Given the description of an element on the screen output the (x, y) to click on. 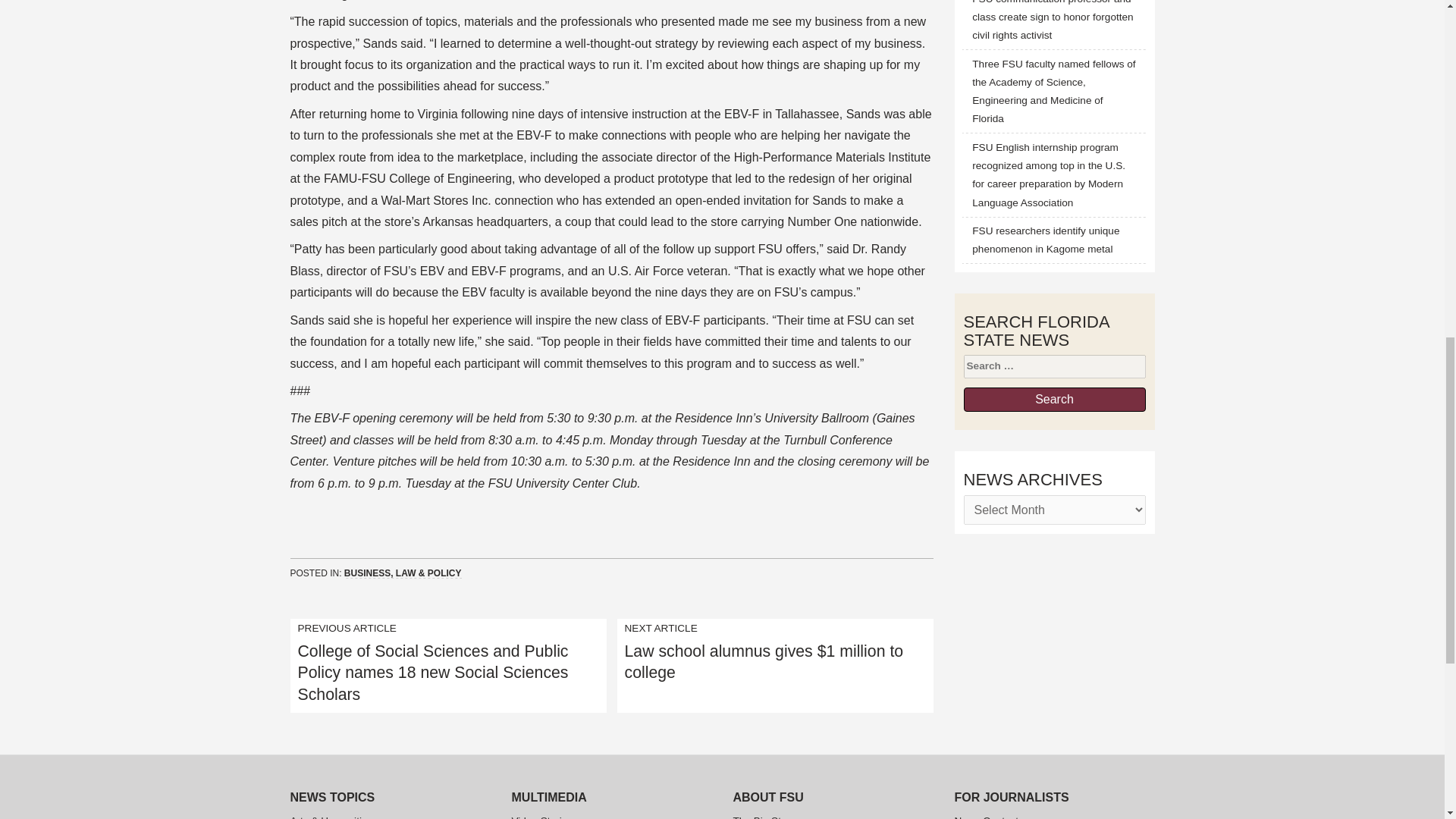
Search (1053, 398)
